Given the description of an element on the screen output the (x, y) to click on. 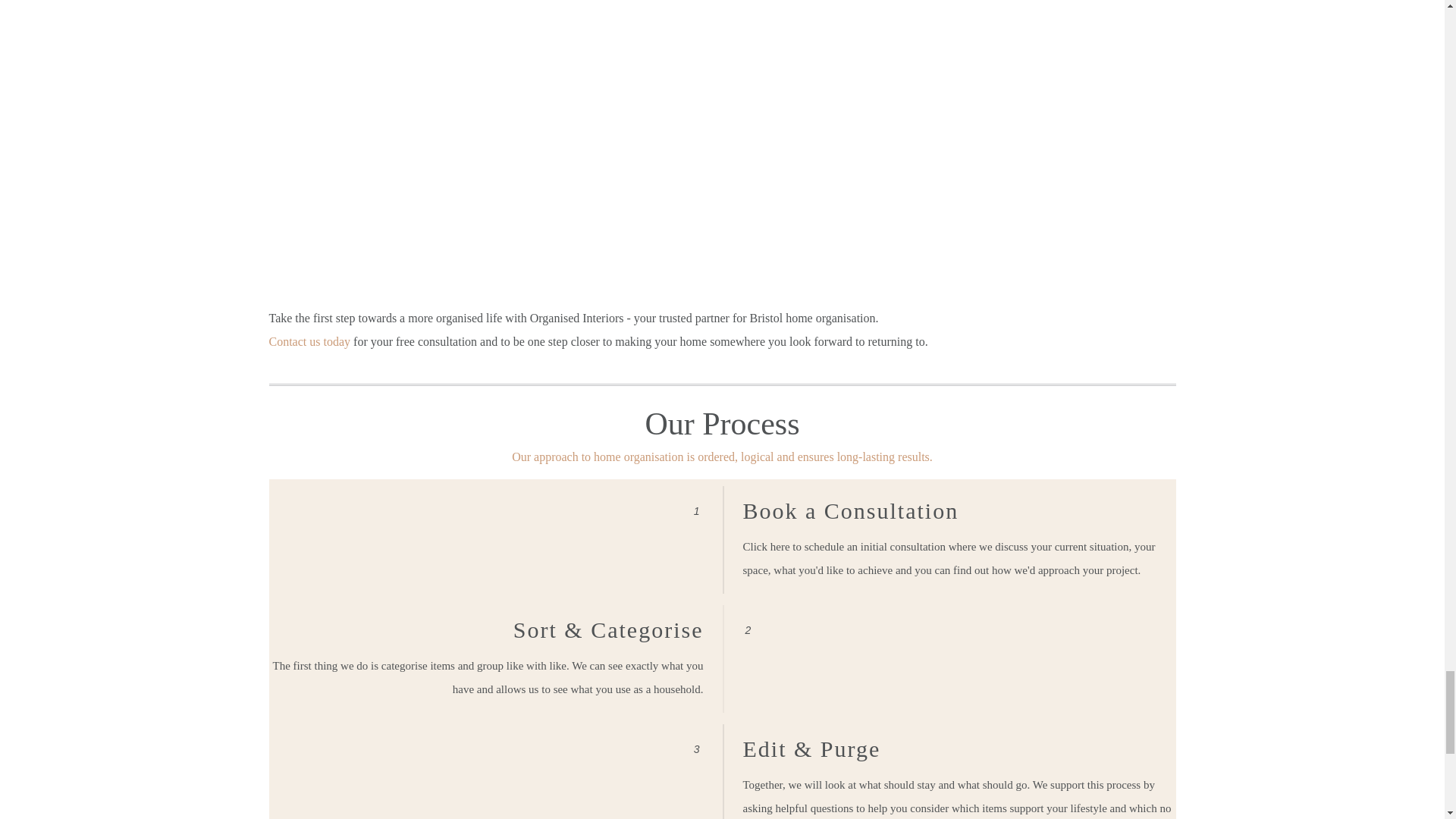
Contact us today (308, 341)
